Given the description of an element on the screen output the (x, y) to click on. 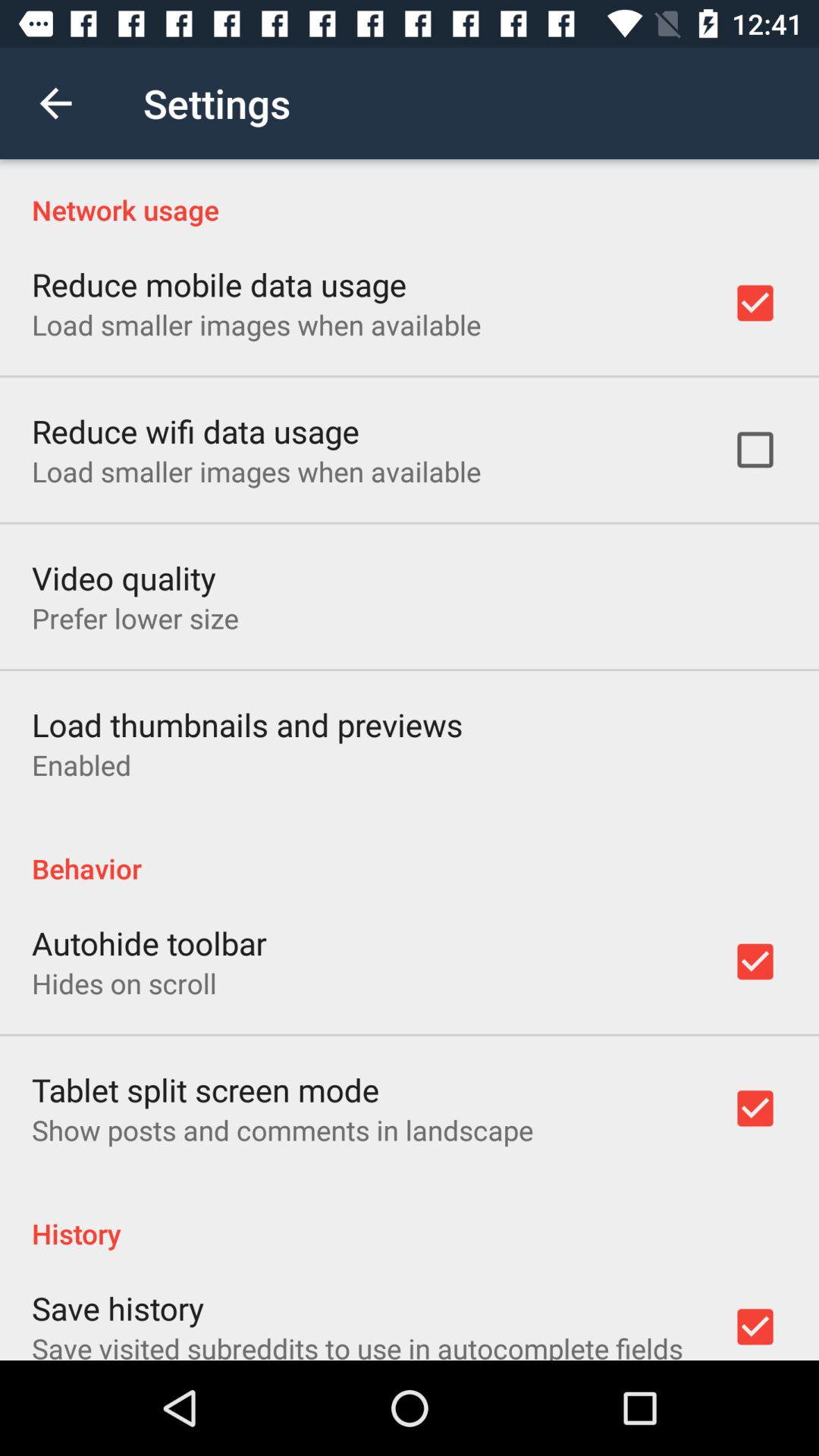
turn on the item below hides on scroll (205, 1089)
